Given the description of an element on the screen output the (x, y) to click on. 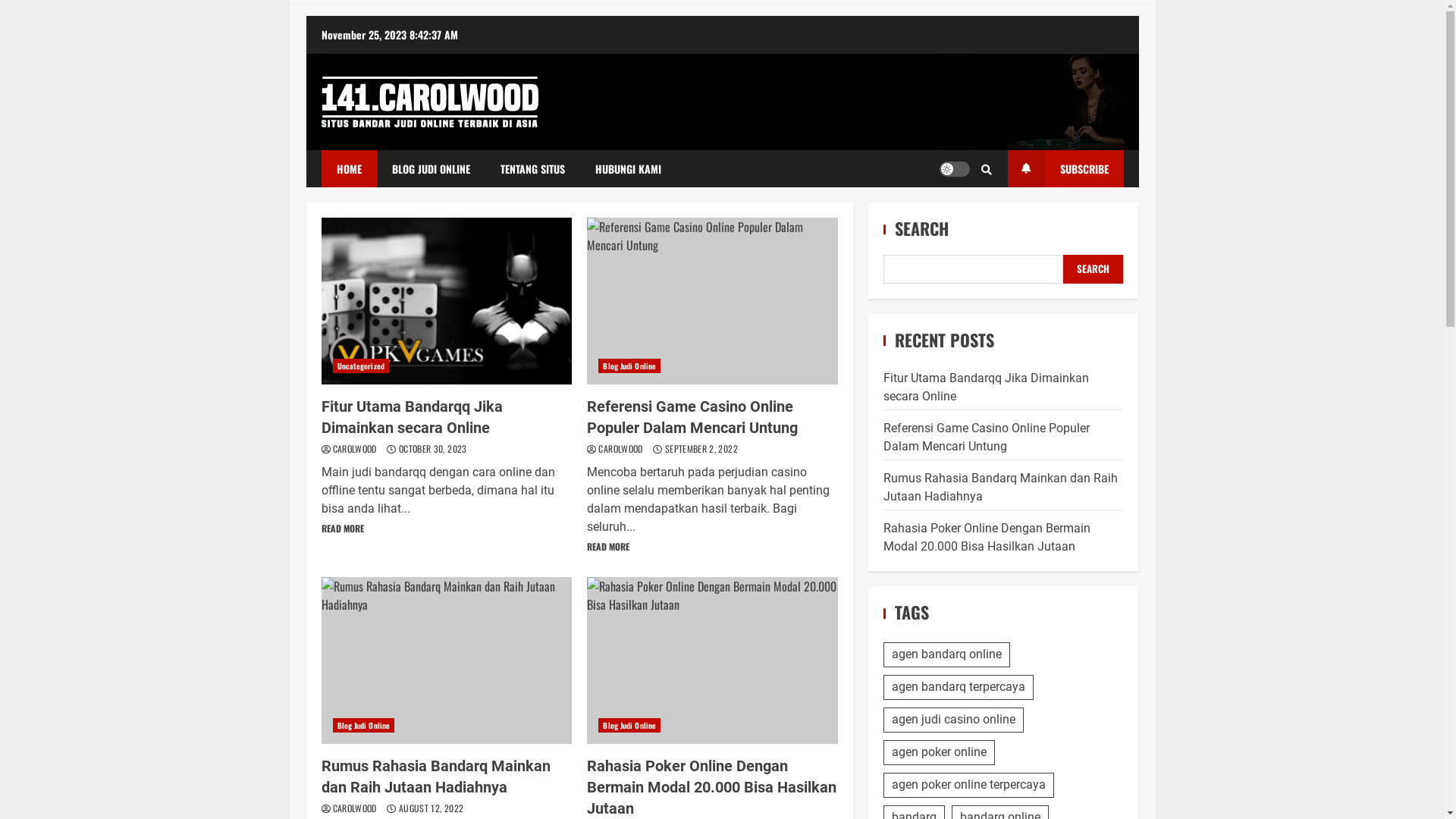
agen poker online terpercaya Element type: text (968, 784)
agen bandarq online Element type: text (946, 654)
Rumus Rahasia Bandarq Mainkan dan Raih Jutaan Hadiahnya Element type: text (1000, 486)
CAROLWOOD Element type: text (621, 448)
Blog Judi Online Element type: text (629, 365)
CAROLWOOD Element type: text (355, 807)
BLOG JUDI ONLINE Element type: text (430, 168)
Skip to content Element type: text (304, 15)
SUBSCRIBE Element type: text (1065, 168)
READ MORE Element type: text (607, 545)
agen judi casino online Element type: text (953, 719)
HOME Element type: text (348, 168)
Search Element type: hover (986, 168)
TENTANG SITUS Element type: text (532, 168)
SEARCH Element type: text (1093, 268)
agen bandarq terpercaya Element type: text (958, 686)
Referensi Game Casino Online Populer Dalam Mencari Untung Element type: text (711, 300)
Fitur Utama Bandarqq Jika Dimainkan secara Online Element type: text (446, 300)
Fitur Utama Bandarqq Jika Dimainkan secara Online Element type: text (985, 386)
Rumus Rahasia Bandarq Mainkan dan Raih Jutaan Hadiahnya Element type: text (435, 776)
Referensi Game Casino Online Populer Dalam Mencari Untung Element type: text (986, 436)
Blog Judi Online Element type: text (629, 725)
Blog Judi Online Element type: text (363, 725)
Uncategorized Element type: text (360, 365)
Referensi Game Casino Online Populer Dalam Mencari Untung Element type: text (691, 416)
CAROLWOOD Element type: text (355, 448)
agen poker online Element type: text (938, 752)
Rumus Rahasia Bandarq Mainkan dan Raih Jutaan Hadiahnya Element type: text (446, 660)
READ MORE Element type: text (342, 527)
Light/Dark Button Element type: text (953, 167)
Fitur Utama Bandarqq Jika Dimainkan secara Online Element type: text (411, 416)
Search Element type: text (960, 214)
HUBUNGI KAMI Element type: text (627, 168)
